Given the description of an element on the screen output the (x, y) to click on. 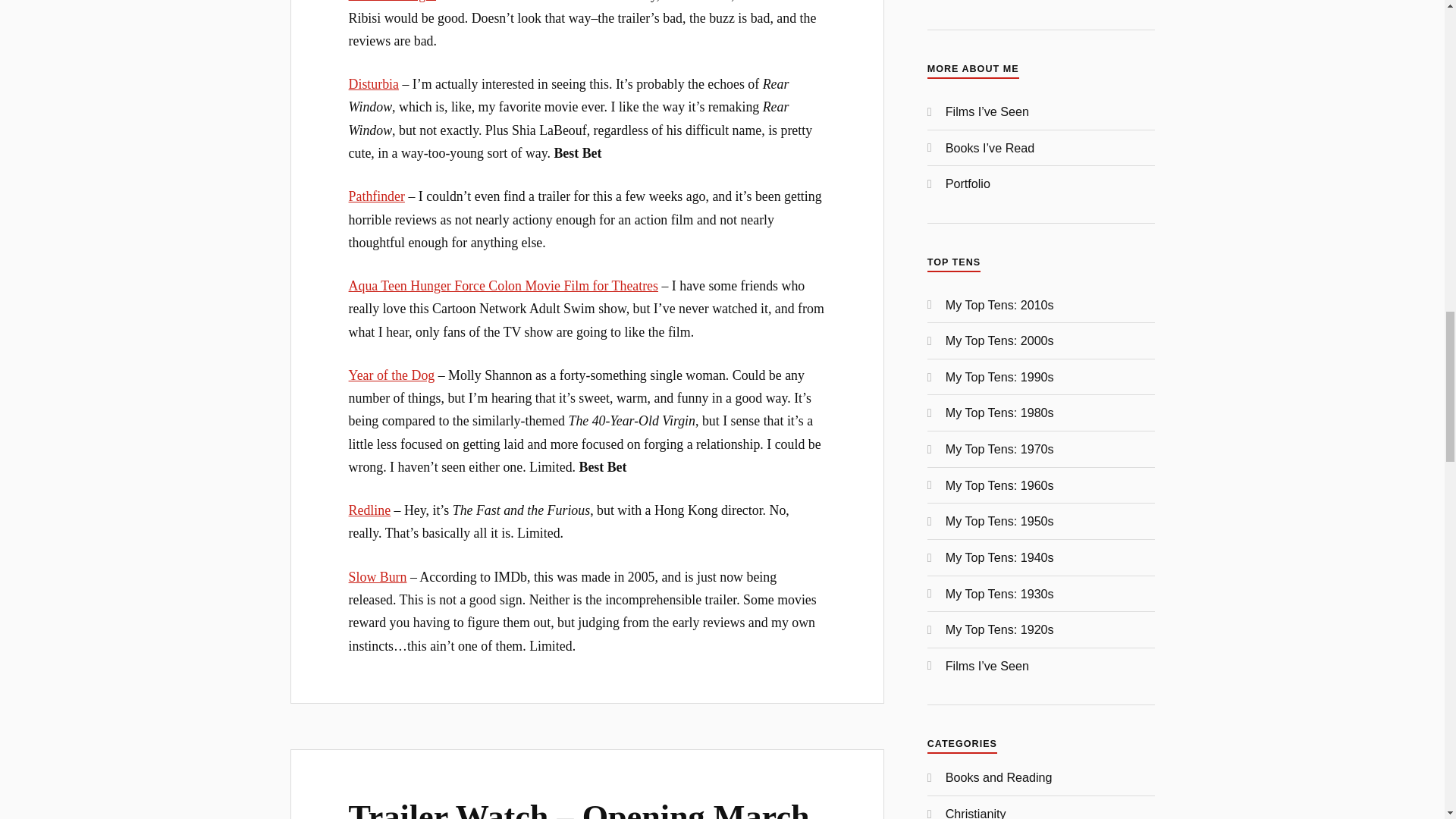
Disturbia (373, 83)
Slow Burn (378, 576)
Perfect Stranger (392, 1)
Pathfinder (376, 196)
Year of the Dog (392, 375)
Aqua Teen Hunger Force Colon Movie Film for Theatres (503, 285)
Redline (370, 509)
